Given the description of an element on the screen output the (x, y) to click on. 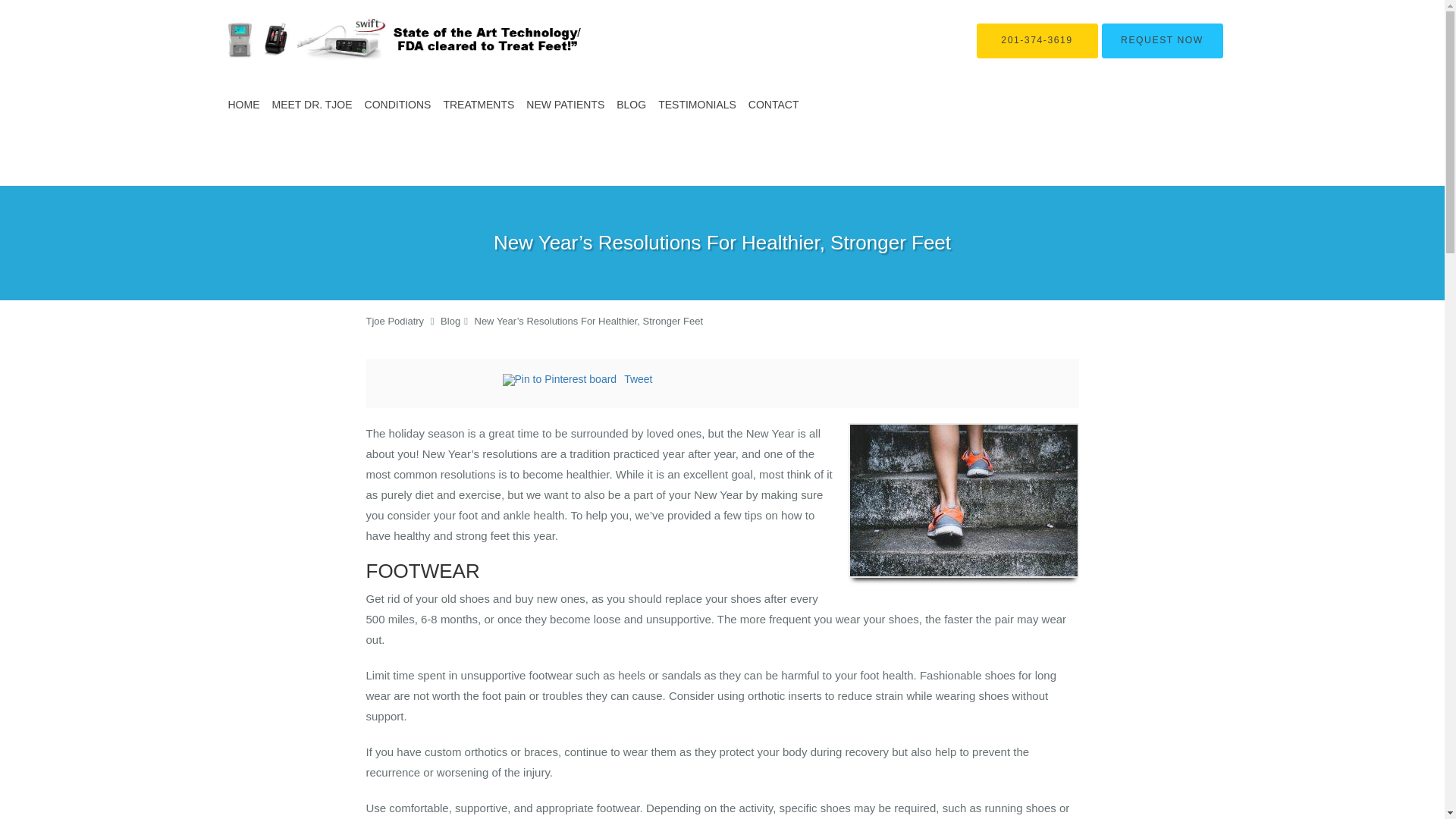
MEET DR. TJOE (311, 104)
HOME (242, 104)
CONTACT (773, 104)
Tjoe Podiatry (394, 320)
REQUEST NOW (1161, 40)
BLOG (631, 104)
Tweet (638, 378)
TESTIMONIALS (697, 104)
Blog (450, 320)
CONDITIONS (398, 104)
Facebook social button (441, 381)
201-374-3619 (1036, 40)
NEW PATIENTS (564, 104)
TREATMENTS (477, 104)
